Given the description of an element on the screen output the (x, y) to click on. 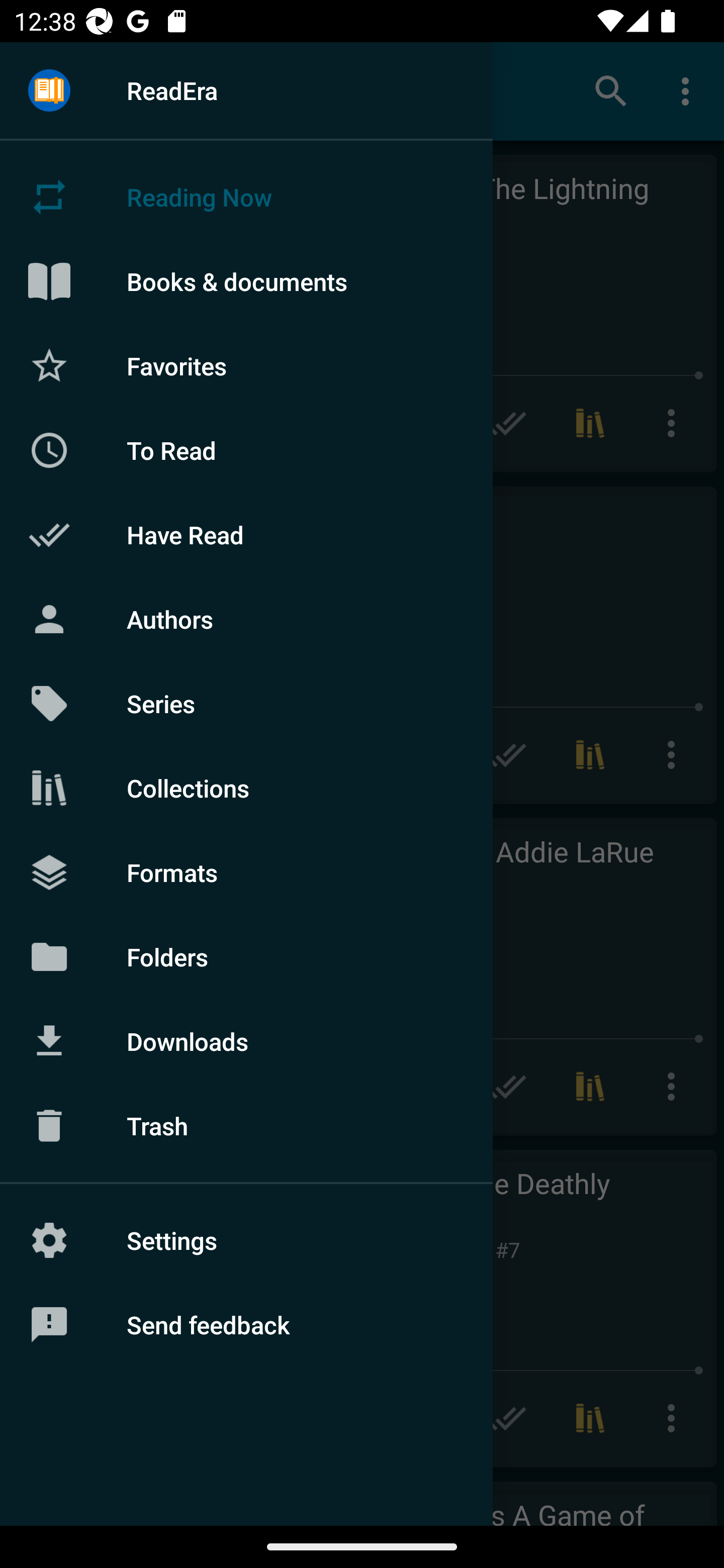
Menu (49, 91)
ReadEra (246, 89)
Search books & documents (611, 90)
More options (688, 90)
Reading Now (246, 197)
Books & documents (246, 281)
Favorites (246, 365)
To Read (246, 449)
Have Read (246, 534)
Authors (246, 619)
Series (246, 703)
Collections (246, 787)
Formats (246, 871)
Folders (246, 956)
Downloads (246, 1040)
Trash (246, 1125)
Settings (246, 1239)
Send feedback (246, 1324)
